Given the description of an element on the screen output the (x, y) to click on. 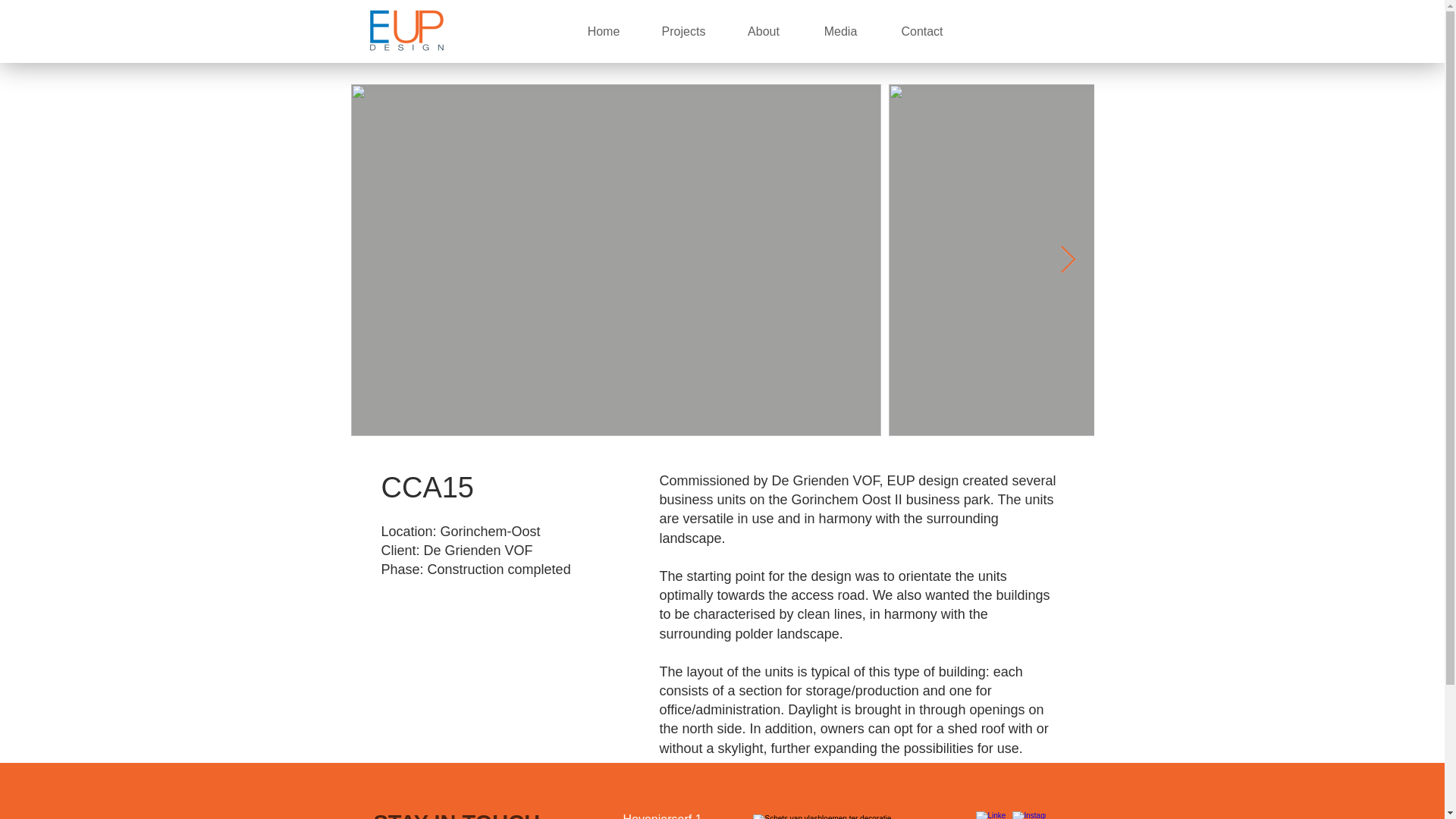
About (764, 31)
Contact (921, 31)
Home (603, 31)
Projects (683, 31)
Media (840, 31)
